Given the description of an element on the screen output the (x, y) to click on. 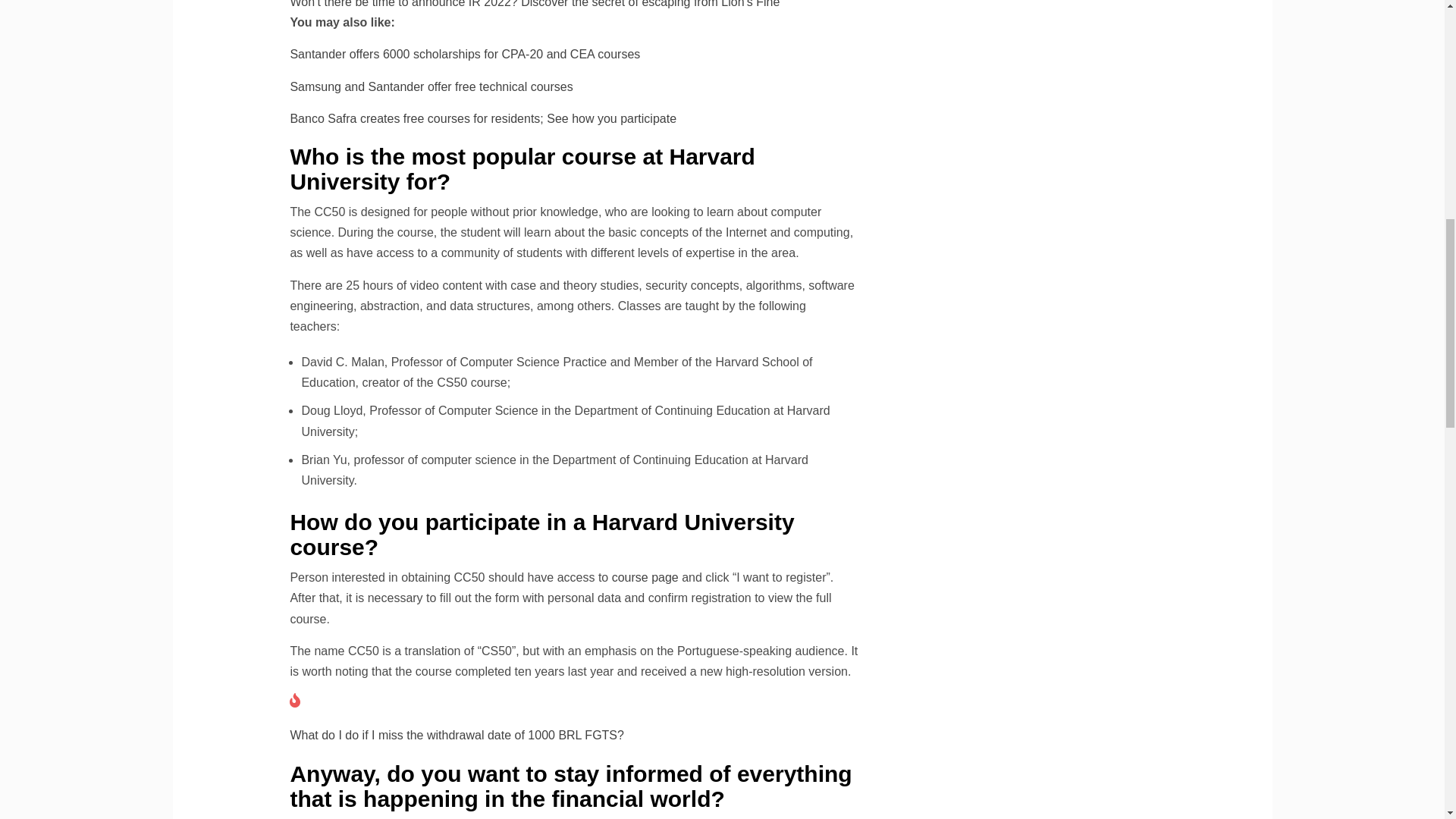
course page (644, 576)
What do I do if I miss the withdrawal date of 1000 BRL FGTS? (456, 735)
Samsung and Santander offer free technical courses (430, 86)
